Given the description of an element on the screen output the (x, y) to click on. 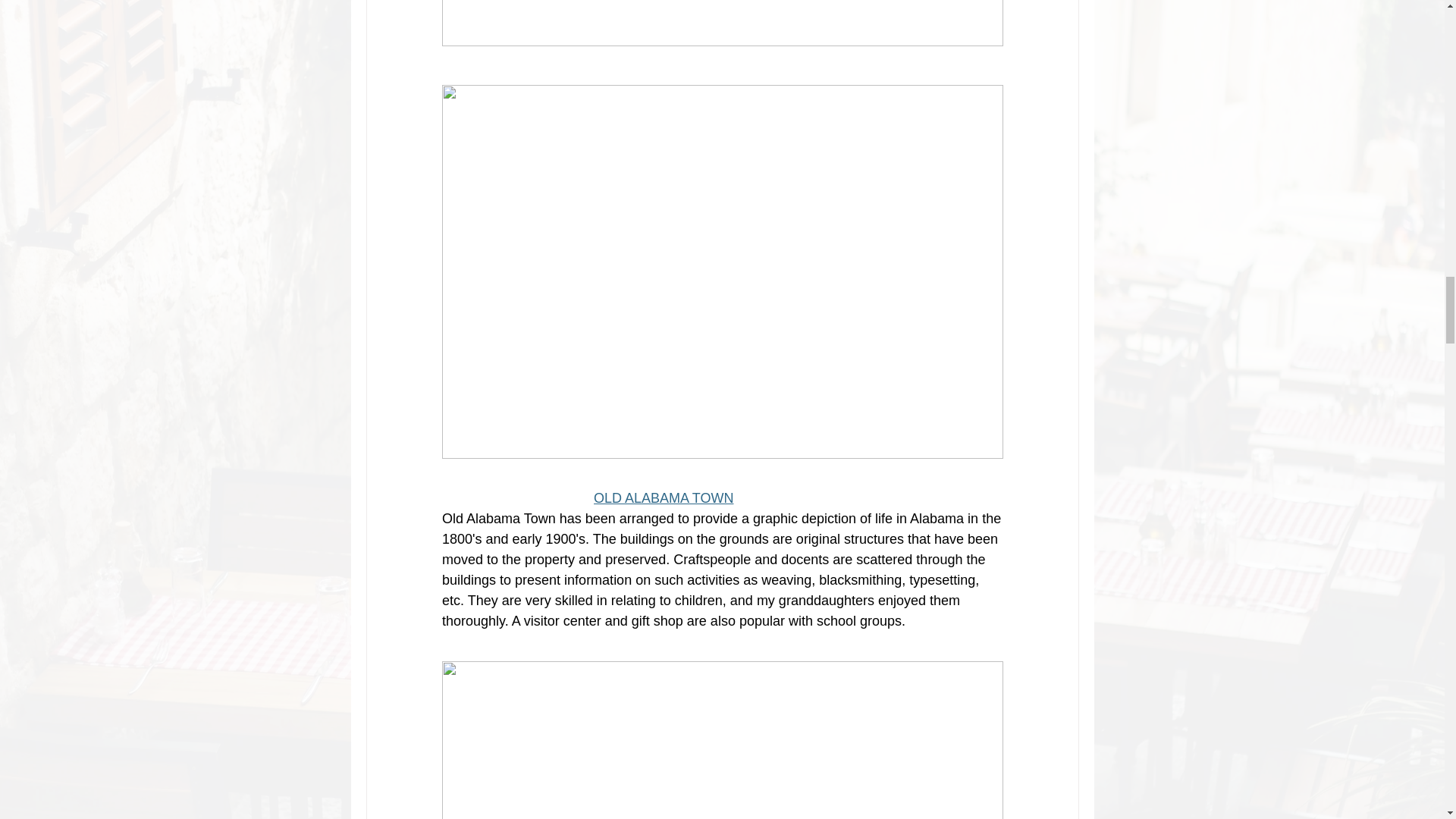
OLD ALABAMA TOWN (663, 498)
